Given the description of an element on the screen output the (x, y) to click on. 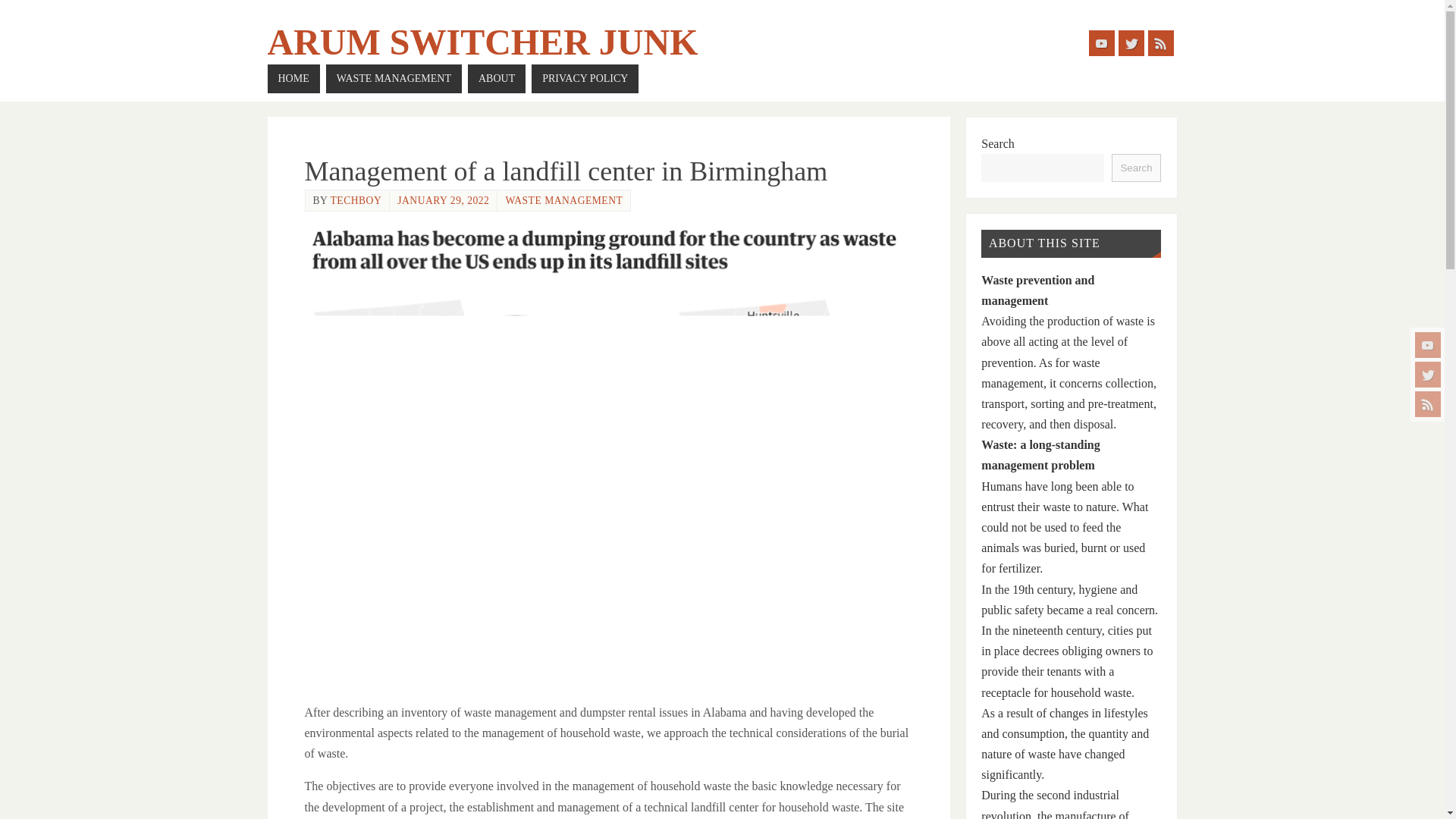
RSS (1160, 43)
View all posts by techboy (355, 200)
JANUARY 29, 2022 (443, 200)
TECHBOY (355, 200)
Twitter (1428, 374)
ABOUT (496, 78)
HOME (292, 78)
RSS (1428, 403)
ARUM SWITCHER JUNK (481, 42)
Arum Switcher Junk (481, 42)
